Given the description of an element on the screen output the (x, y) to click on. 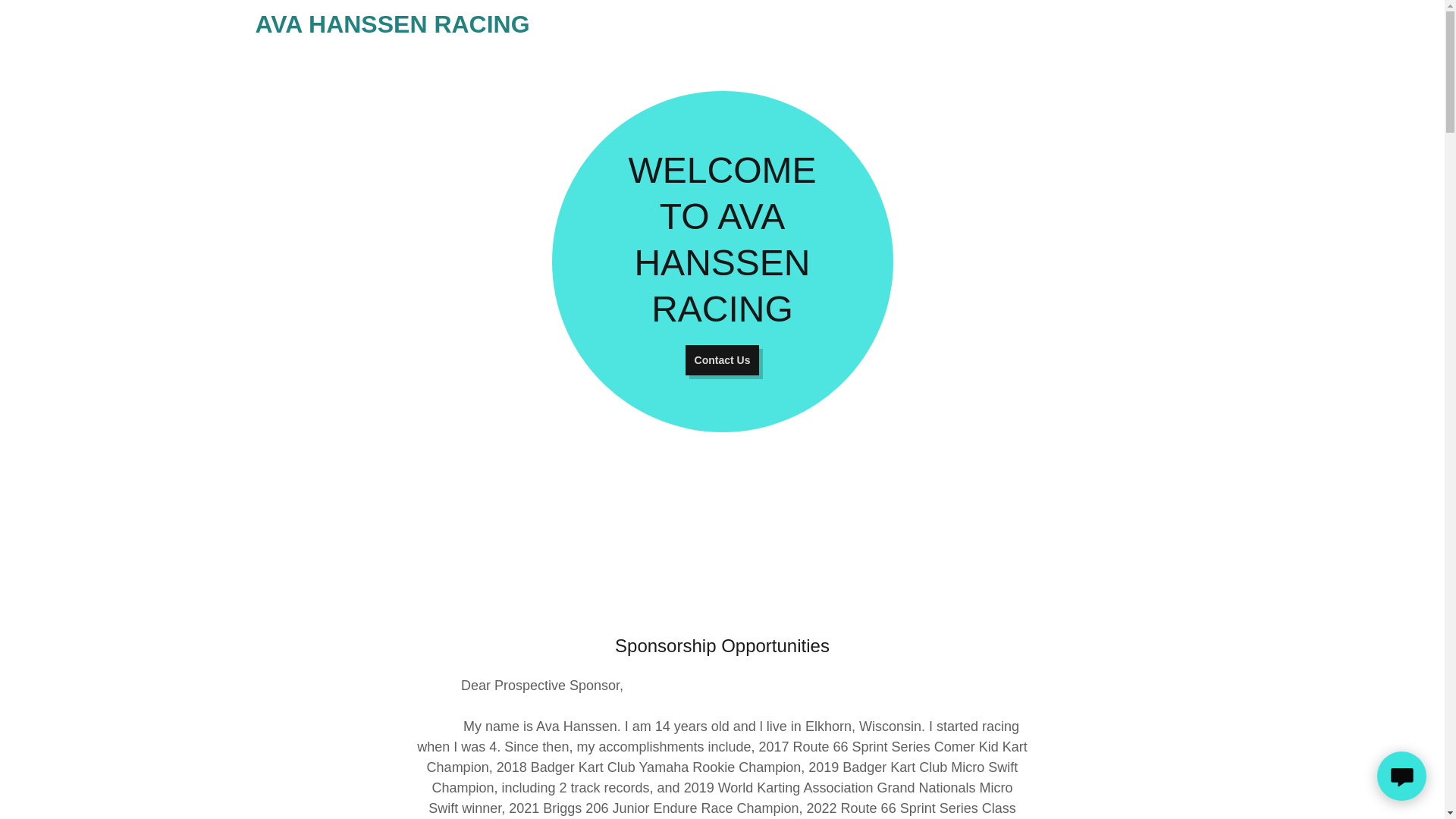
AVA HANSSEN RACING (488, 28)
AVA HANSSEN RACING (488, 28)
Contact Us (722, 359)
